Given the description of an element on the screen output the (x, y) to click on. 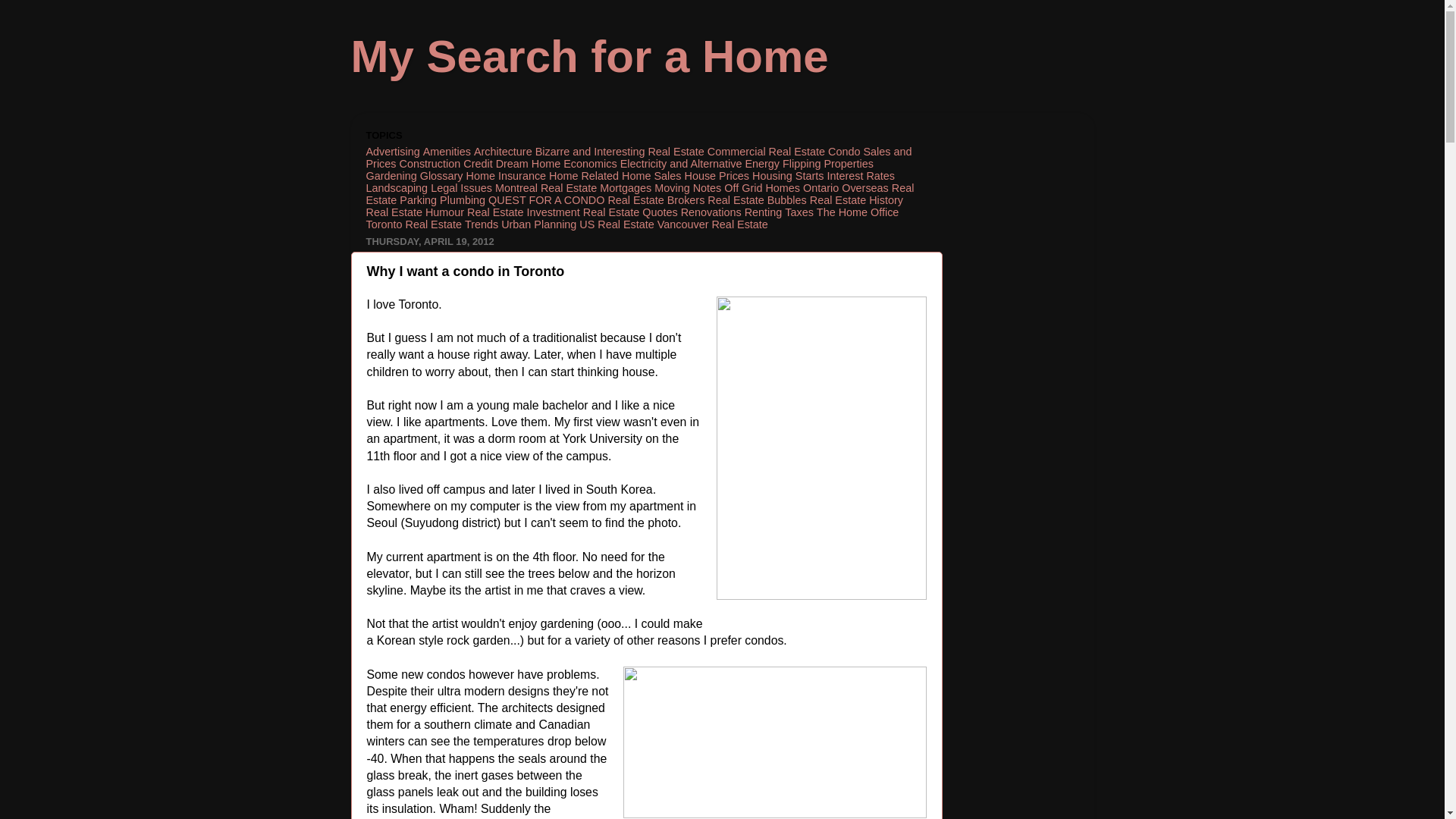
Real Estate Humour (414, 212)
Interest Rates (861, 175)
Plumbing (461, 200)
Condo Sales and Prices (638, 157)
Montreal Real Estate (545, 187)
Commercial Real Estate (766, 151)
Electricity and Alternative Energy (699, 163)
Dream Home (528, 163)
Renovations (711, 212)
Architecture (503, 151)
Landscaping (396, 187)
Parking (417, 200)
Home Insurance (505, 175)
Housing Starts (788, 175)
Economics (589, 163)
